Given the description of an element on the screen output the (x, y) to click on. 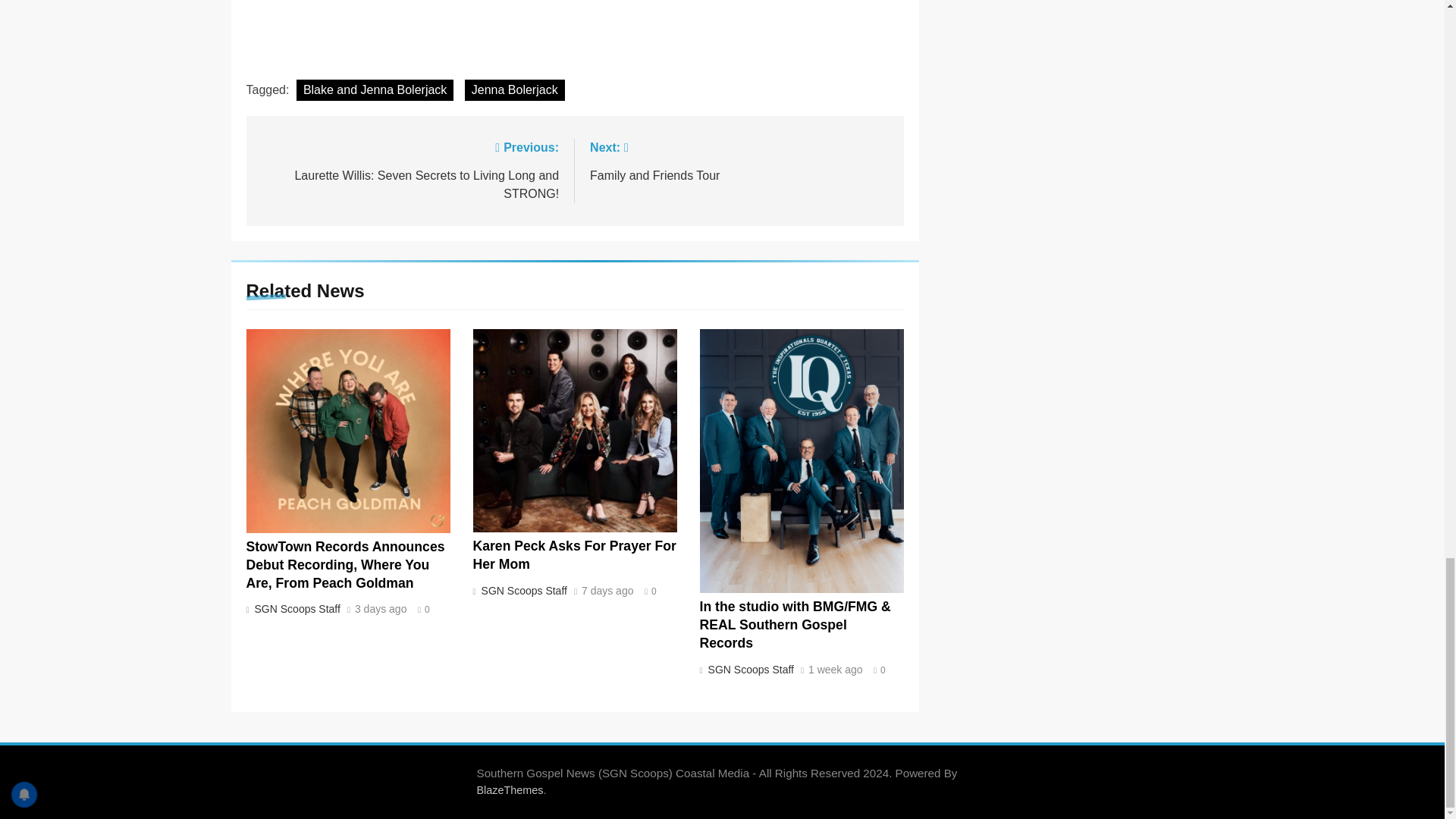
BlazeThemes (509, 789)
SGN Scoops Staff (295, 608)
SGN Scoops Staff (522, 590)
SGN Scoops Staff (749, 669)
Jenna Bolerjack (514, 89)
Blake and Jenna Bolerjack (374, 89)
1 week ago (835, 670)
3 days ago (381, 609)
7 days ago (606, 591)
Karen Peck Asks For Prayer For Her Mom (738, 159)
